Given the description of an element on the screen output the (x, y) to click on. 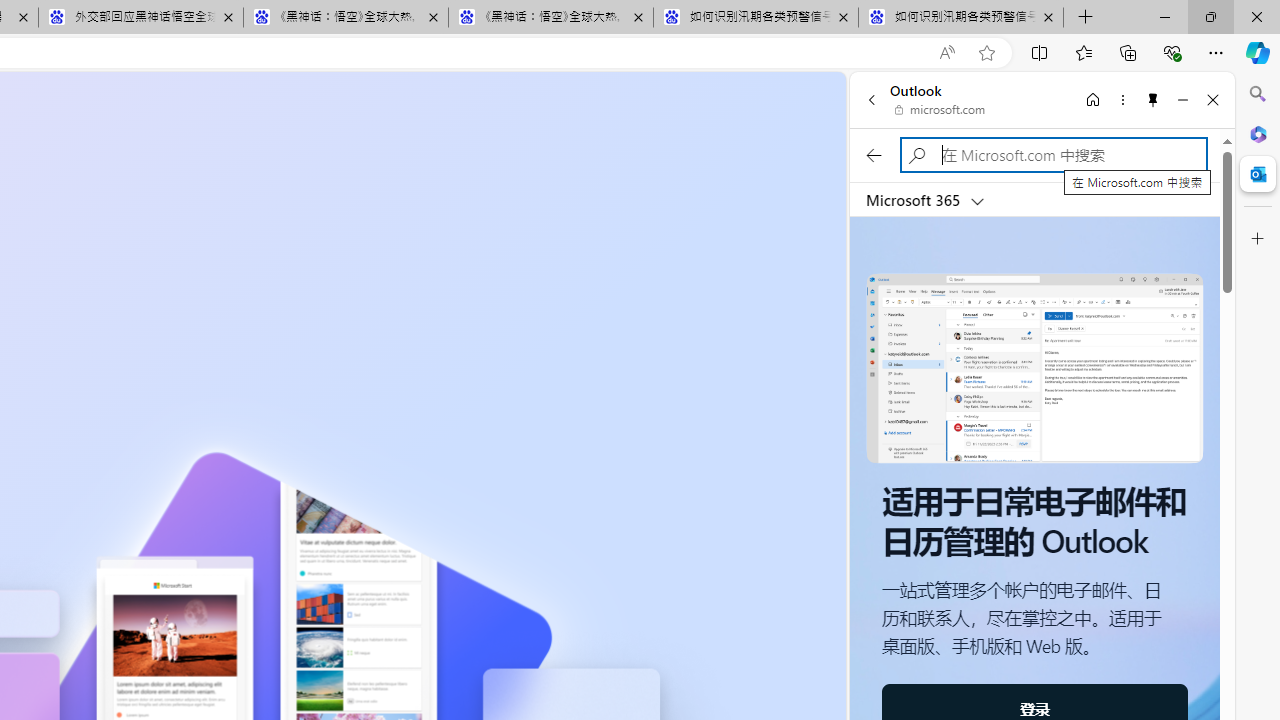
microsoft.com (940, 110)
